Given the description of an element on the screen output the (x, y) to click on. 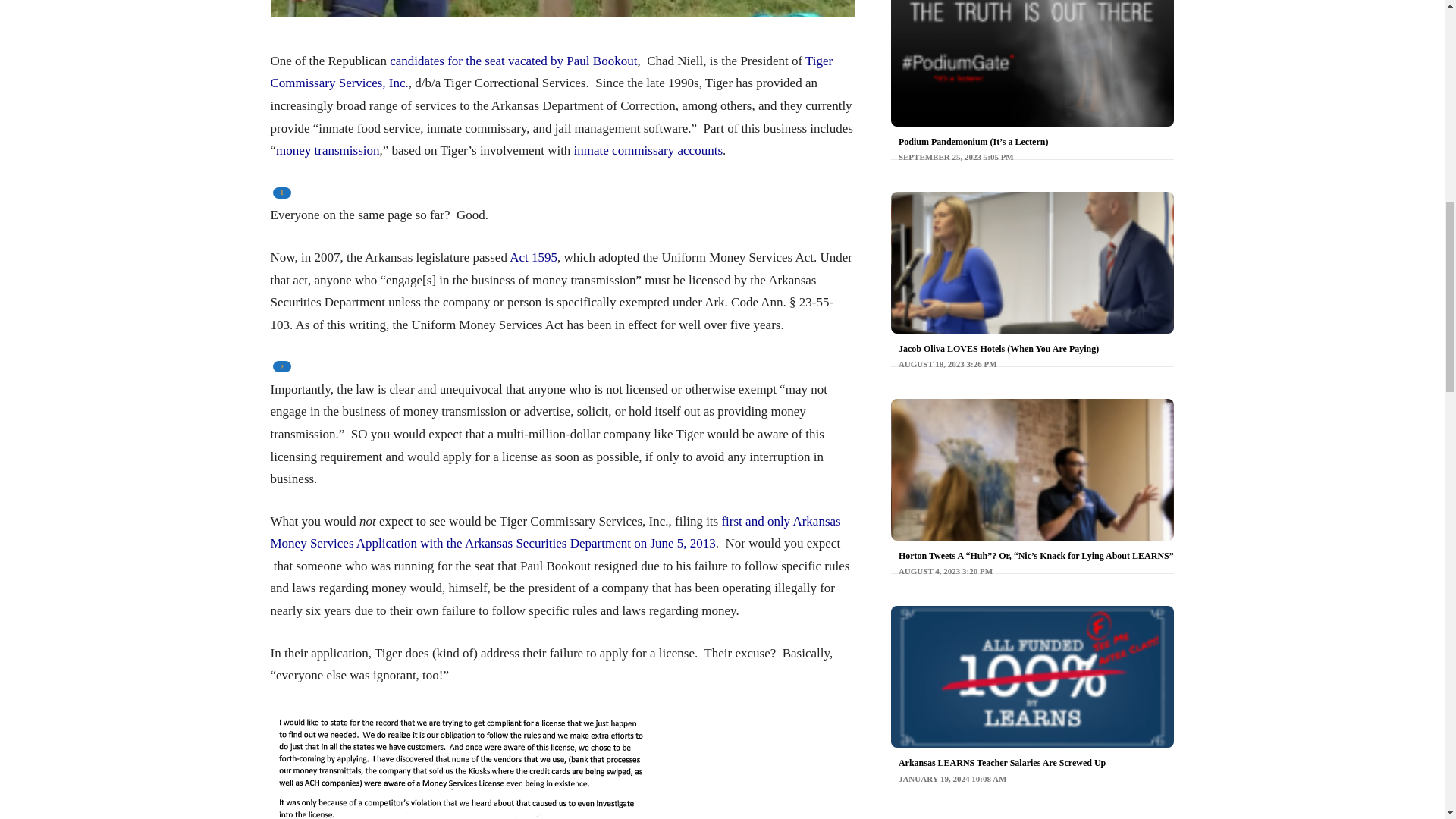
Rawr. (550, 72)
Page 4 (327, 150)
